Given the description of an element on the screen output the (x, y) to click on. 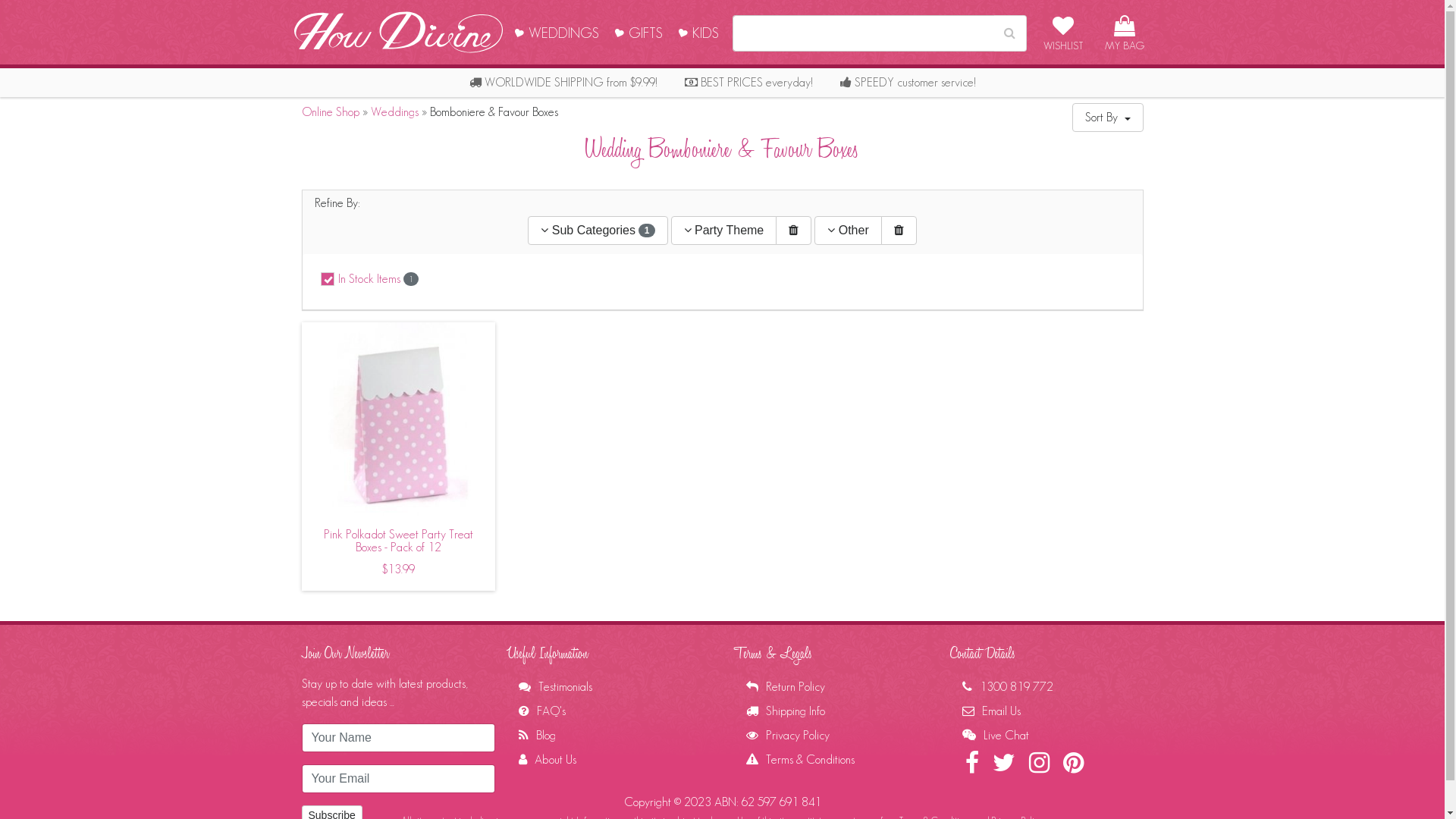
Return Policy Element type: text (785, 686)
Blog Element type: text (536, 734)
Weddings Element type: text (393, 111)
Email Us Element type: text (990, 710)
Shipping Info Element type: text (785, 710)
In Stock Items
1 Element type: text (359, 281)
How Divine Instagram Element type: hover (1040, 766)
BEST PRICES everyday! Element type: text (749, 81)
WEDDINGS Element type: text (556, 32)
Privacy Policy Element type: text (787, 734)
Sub Categories 1 Element type: text (597, 230)
How Divine Twitter Element type: hover (1005, 766)
Sort By Element type: text (1107, 117)
WORLDWIDE SHIPPING from $9.99! Element type: text (563, 81)
Terms & Conditions Element type: text (800, 759)
FAQ's Element type: text (541, 710)
Pink Polkadot Sweet Party Treat Boxes - Pack of 12
$13.99 Element type: text (398, 552)
Live Chat Element type: text (994, 734)
GIFTS Element type: text (638, 32)
SPEEDY customer service! Element type: text (907, 81)
How Divine Home Page Element type: hover (398, 30)
Pink Polkadot Sweet Party Treat Boxes - Pack of 12 Element type: hover (398, 417)
Testimonials Element type: text (555, 686)
How Divine Facebook Element type: hover (973, 766)
KIDS Element type: text (698, 32)
Other Element type: text (847, 230)
About Us Element type: text (547, 759)
MY BAG Element type: text (1123, 32)
Online Shop Element type: text (330, 111)
Party Theme Element type: text (724, 230)
How Divine Pinterest Element type: hover (1075, 766)
WISHLIST Element type: text (1063, 32)
